Given the description of an element on the screen output the (x, y) to click on. 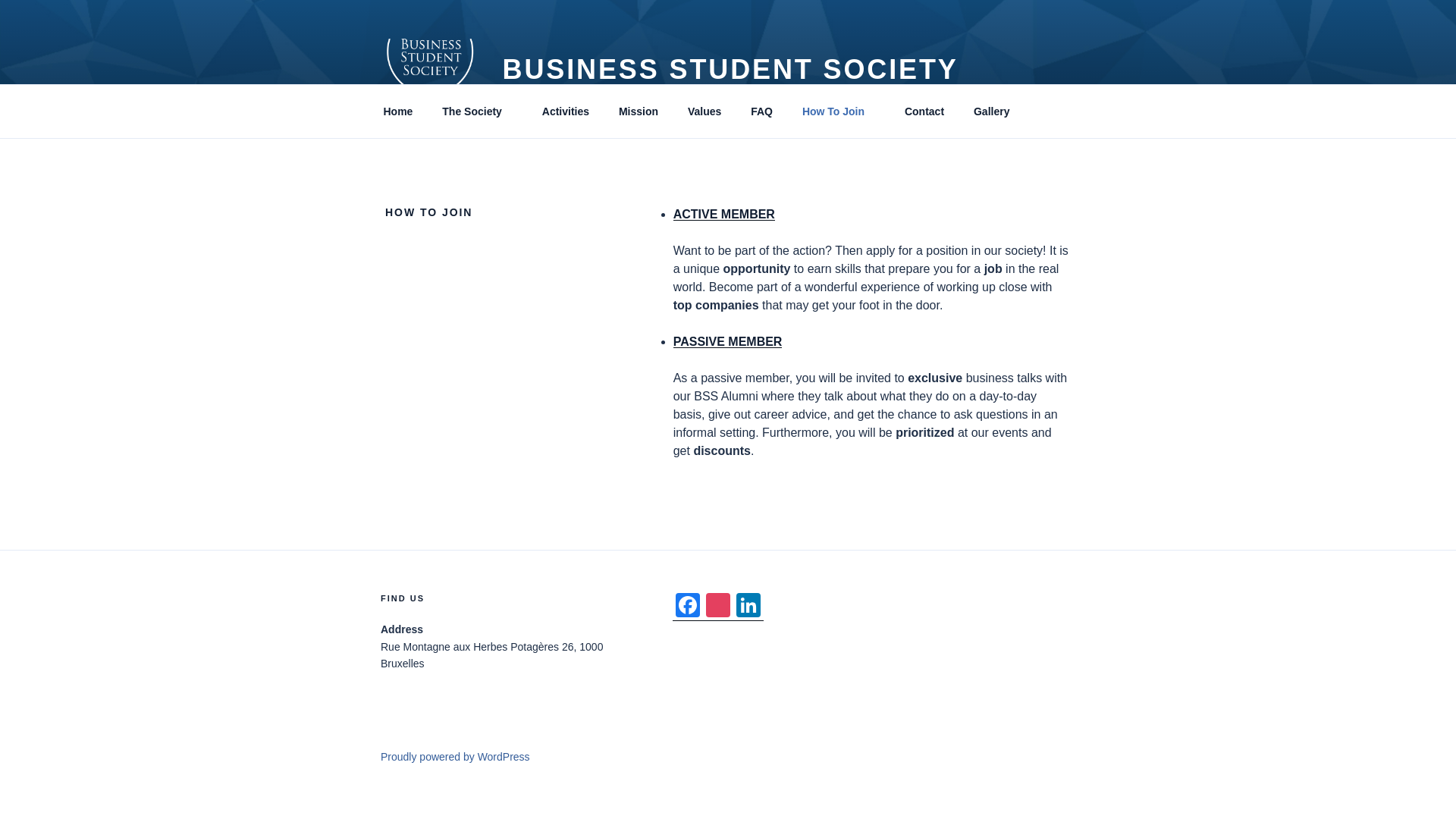
Gallery (990, 110)
The Society (477, 110)
Instagram (718, 606)
Activities (565, 110)
Instagram (718, 606)
LinkedIn Company (747, 606)
BUSINESS STUDENT SOCIETY (730, 69)
Facebook (687, 606)
Home (397, 110)
Values (703, 110)
ACTIVE MEMBER (723, 214)
LinkedIn (747, 606)
Proudly powered by WordPress (454, 756)
PASSIVE MEMBER (727, 341)
